Given the description of an element on the screen output the (x, y) to click on. 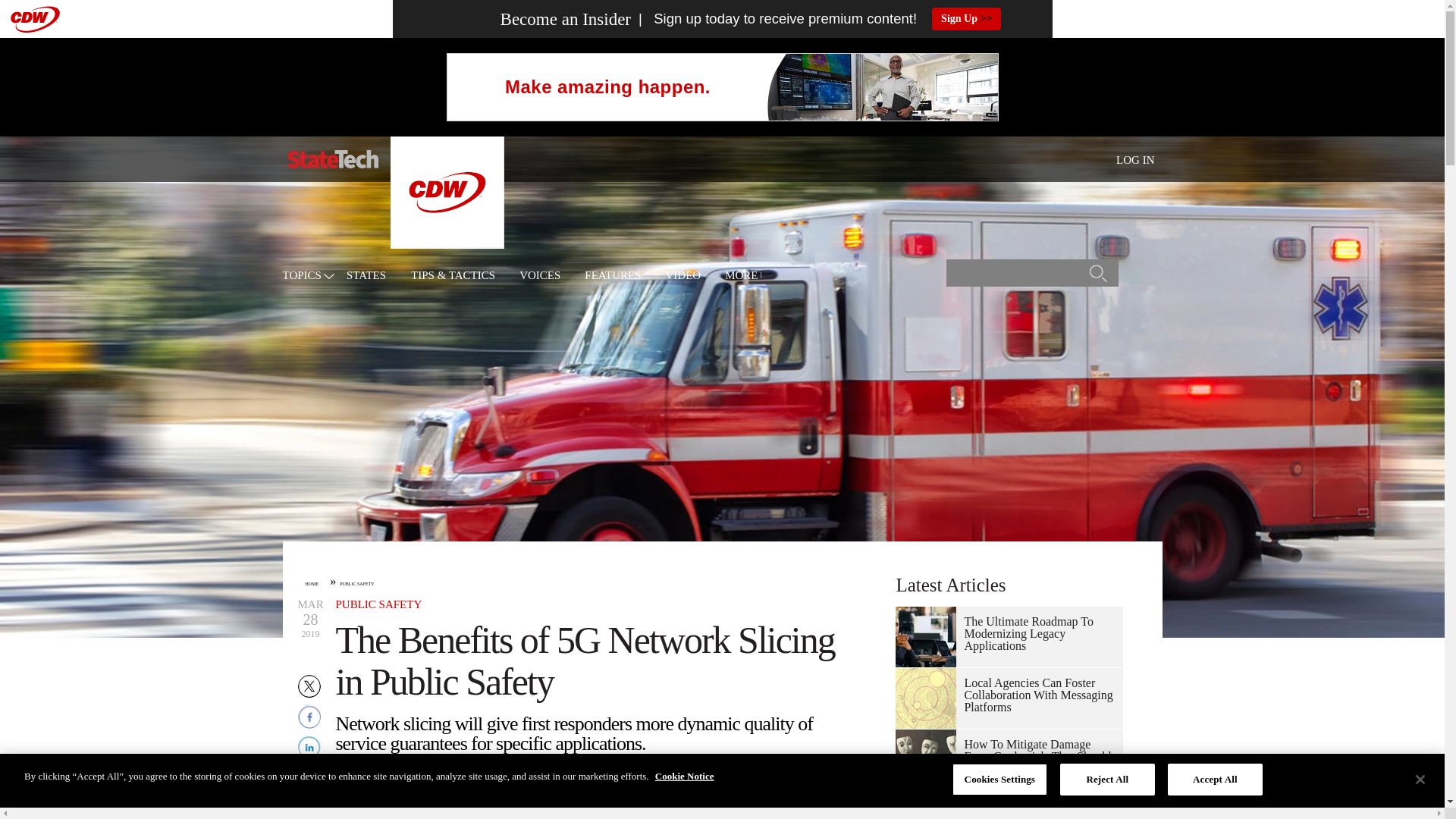
advertisement (721, 87)
Become an Insider (537, 18)
FEATURES (612, 275)
Sign Up (966, 18)
User menu (1135, 160)
Sign up today to receive premium content! (773, 19)
STATES (365, 275)
VOICES (539, 275)
LOG IN (1135, 159)
VIDEO (682, 275)
CDW (446, 244)
Home (332, 158)
